Given the description of an element on the screen output the (x, y) to click on. 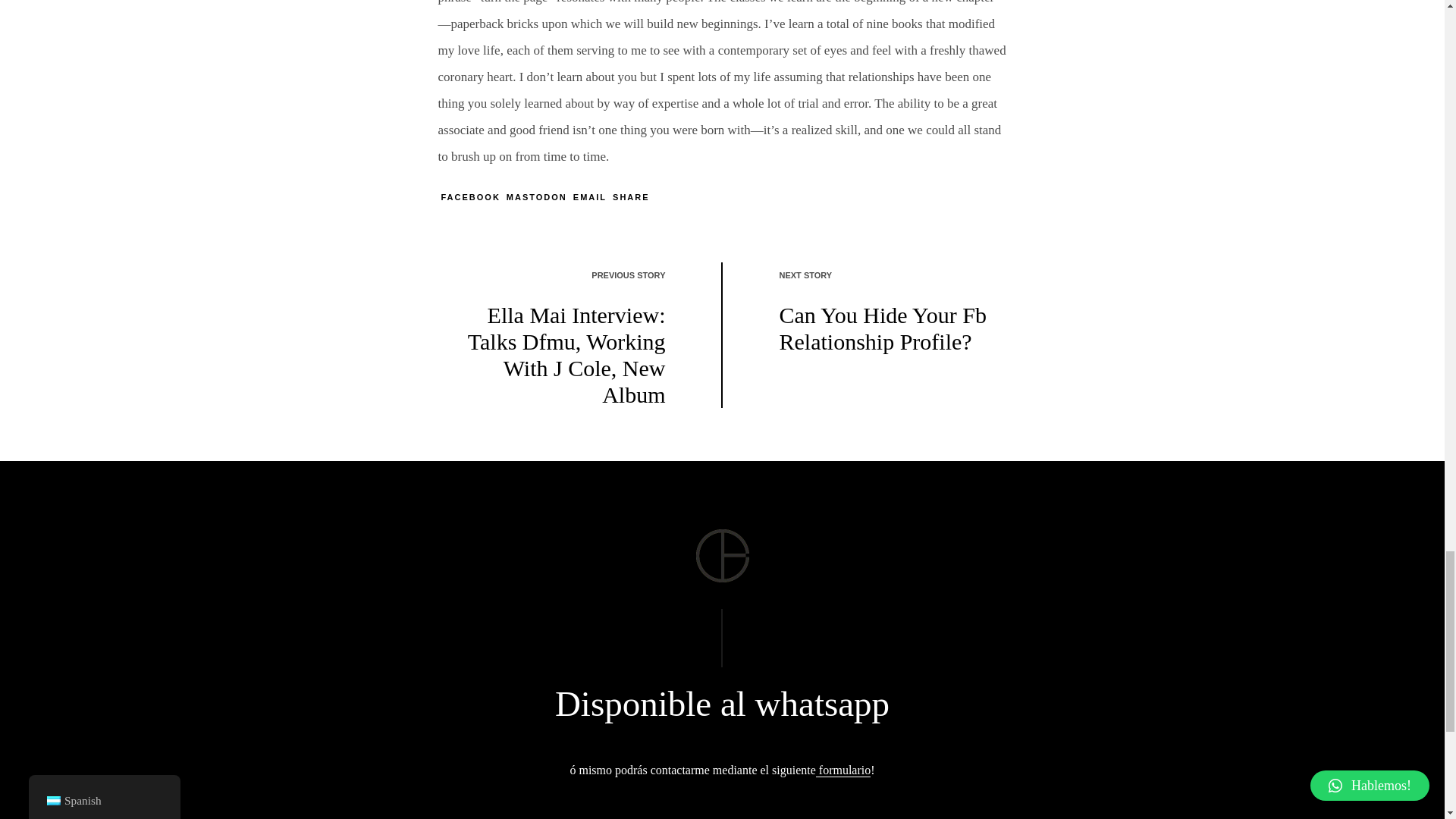
SHARE (631, 196)
Can You Hide Your Fb Relationship Profile? (888, 328)
Mastodon (536, 196)
Facebook (470, 196)
formulario (842, 770)
MASTODON (536, 196)
FACEBOOK (470, 196)
EMAIL (590, 196)
Email (590, 196)
